Given the description of an element on the screen output the (x, y) to click on. 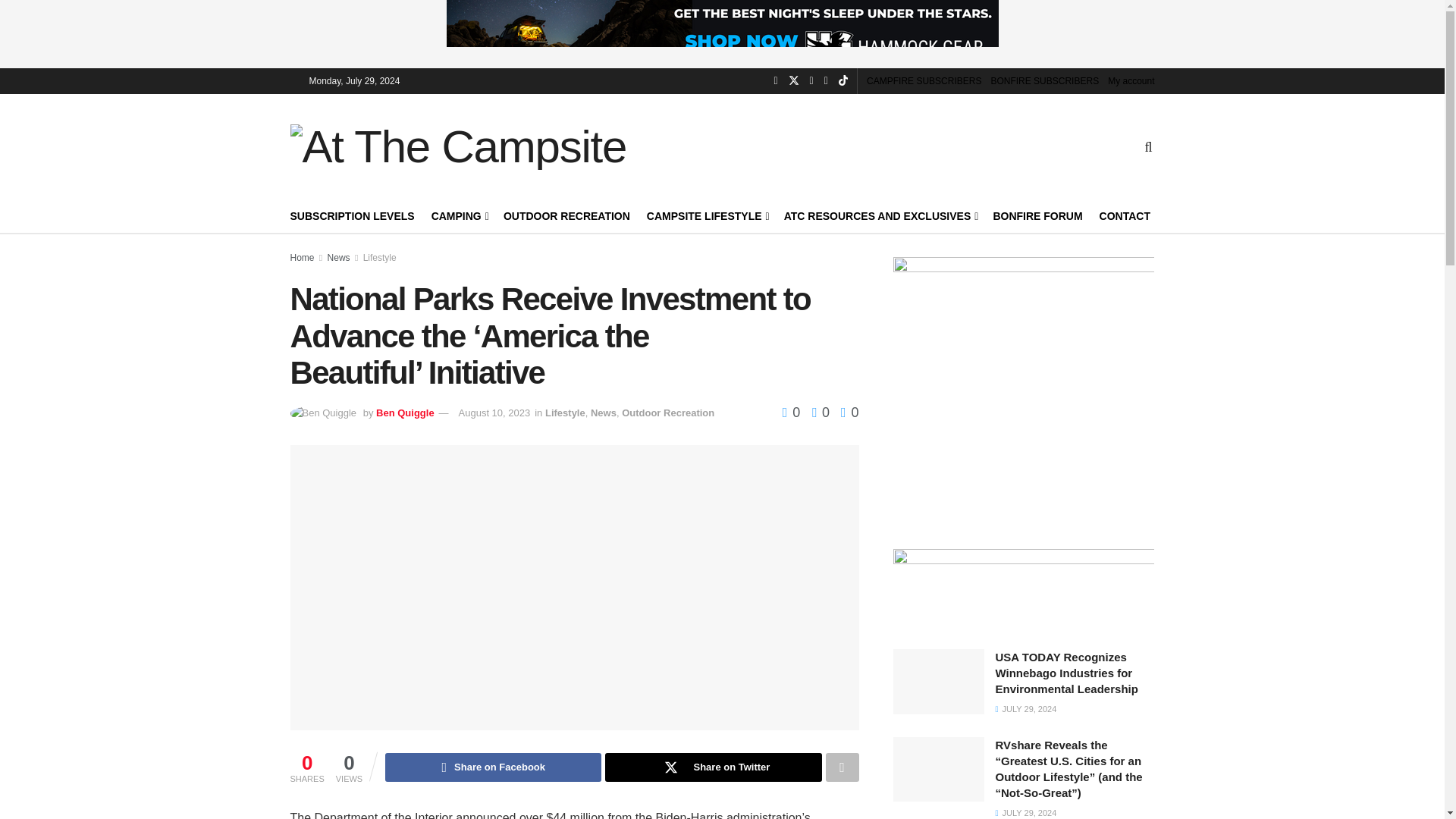
CAMPFIRE SUBSCRIBERS (923, 80)
BONFIRE SUBSCRIBERS (1044, 80)
ATC RESOURCES AND EXCLUSIVES (880, 215)
CAMPING (458, 215)
BONFIRE FORUM (1036, 215)
CAMPSITE LIFESTYLE (706, 215)
CONTACT (1124, 215)
SUBSCRIPTION LEVELS (351, 215)
OUTDOOR RECREATION (566, 215)
My account (1131, 80)
